Given the description of an element on the screen output the (x, y) to click on. 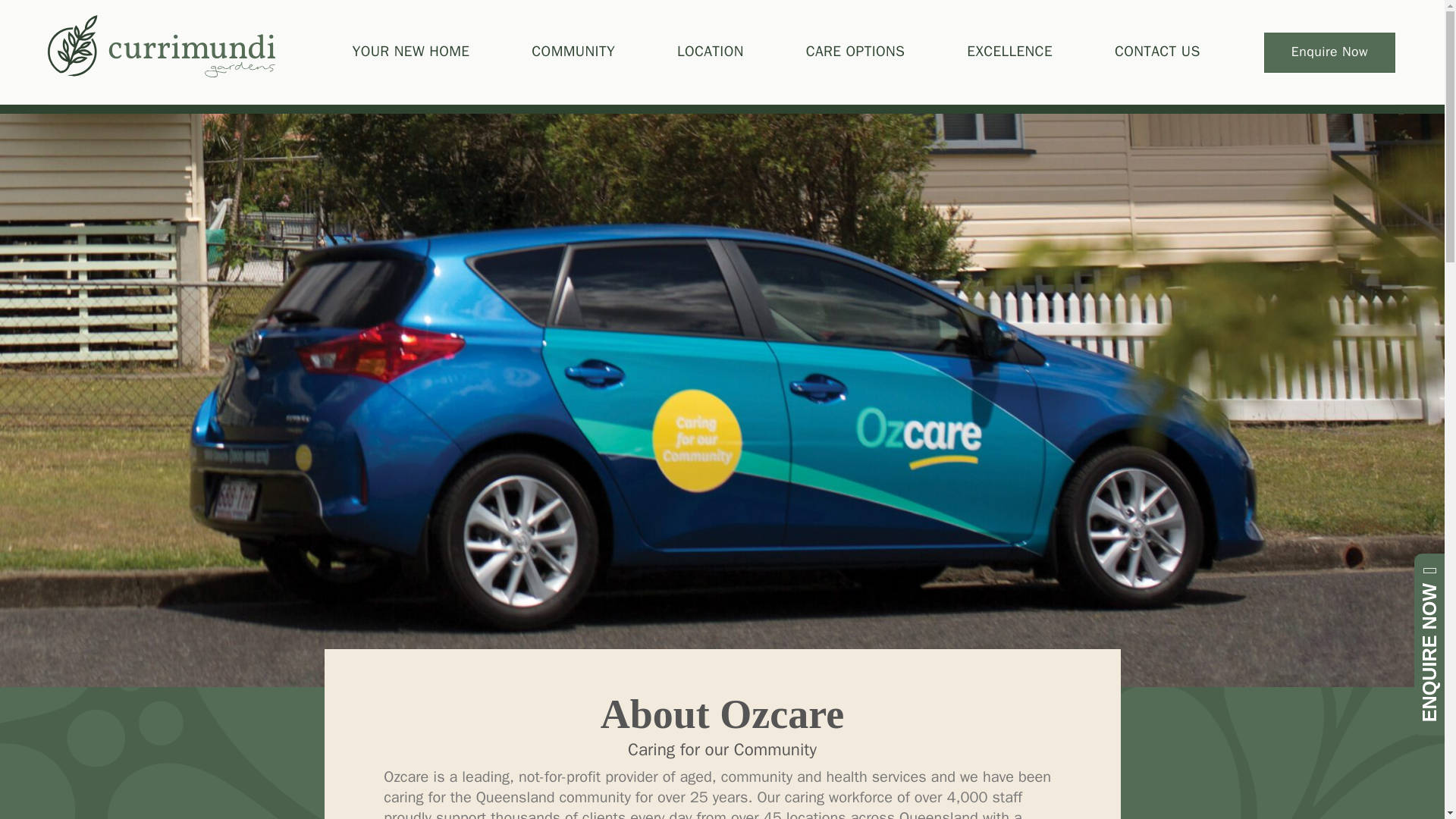
Enquire Now (1329, 51)
CONTACT US (1157, 51)
CARE OPTIONS (855, 51)
LOCATION (710, 51)
YOUR NEW HOME (411, 51)
EXCELLENCE (1009, 51)
Currimundi Gardens - Boutique Community Living (161, 46)
COMMUNITY (572, 51)
